Given the description of an element on the screen output the (x, y) to click on. 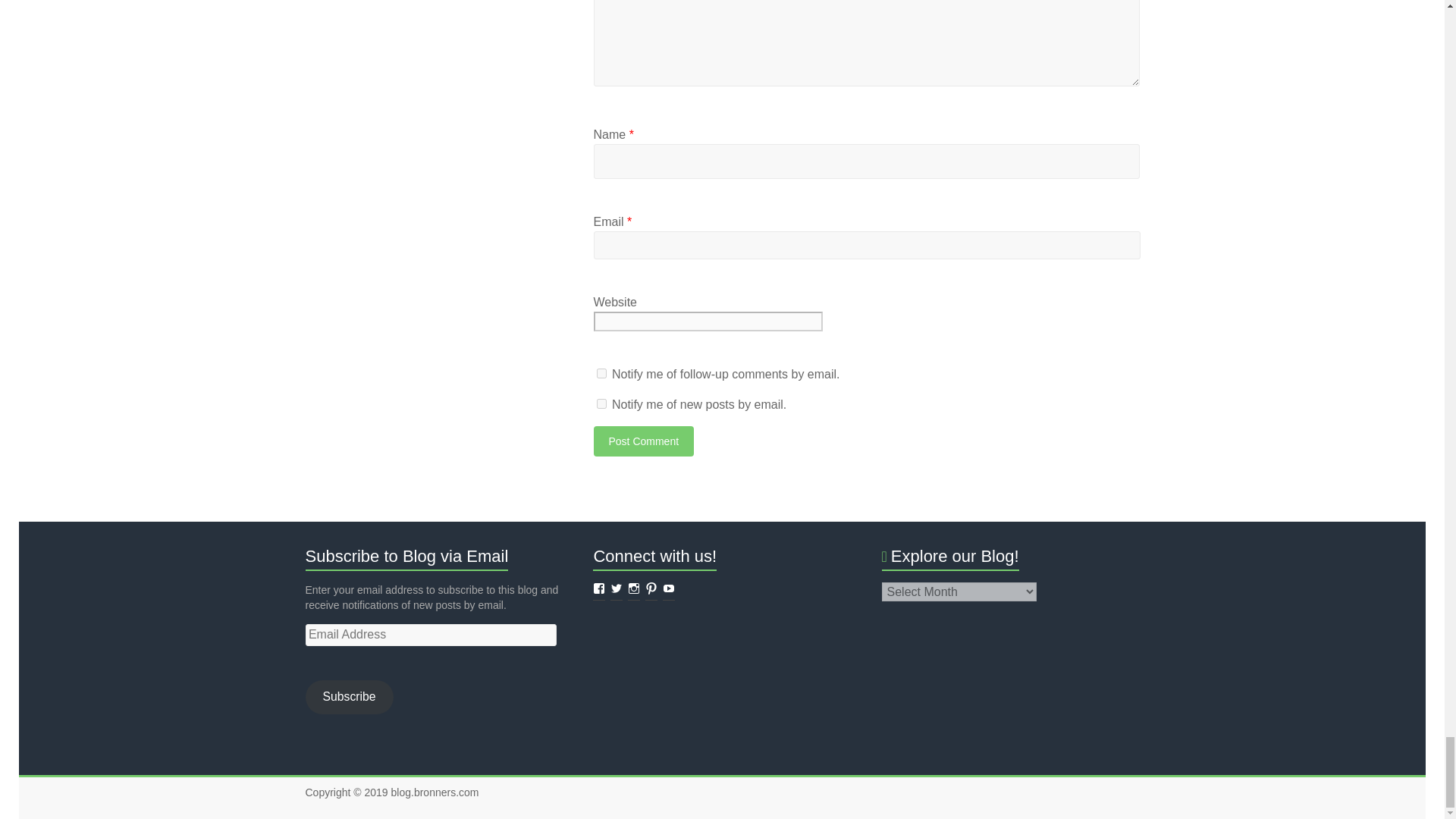
Post Comment (643, 440)
subscribe (600, 403)
subscribe (600, 373)
